Given the description of an element on the screen output the (x, y) to click on. 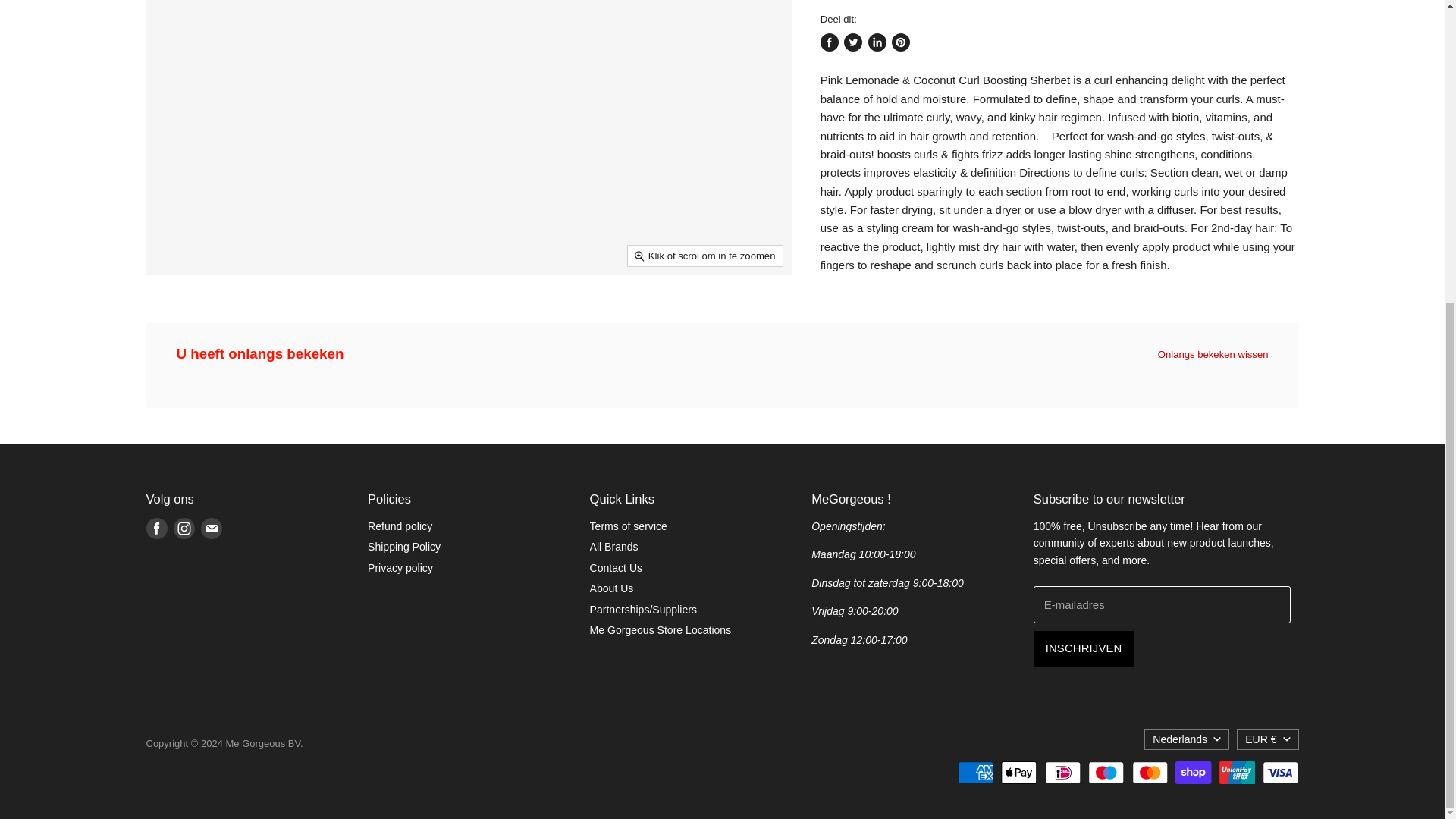
Facebook (156, 528)
Instagram (183, 528)
E-mail (210, 528)
